Given the description of an element on the screen output the (x, y) to click on. 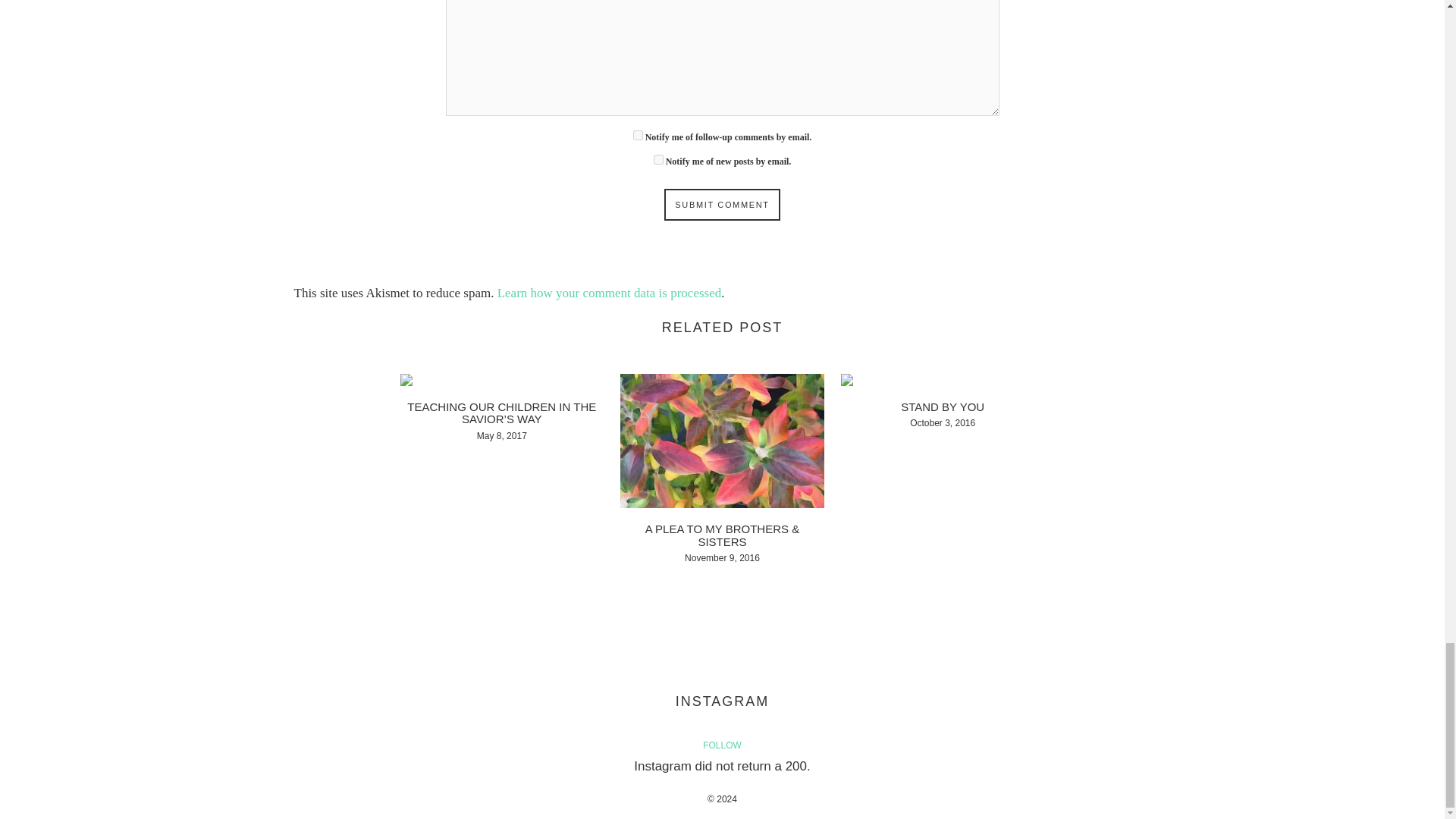
subscribe (658, 159)
Submit Comment (720, 204)
subscribe (638, 135)
